Given the description of an element on the screen output the (x, y) to click on. 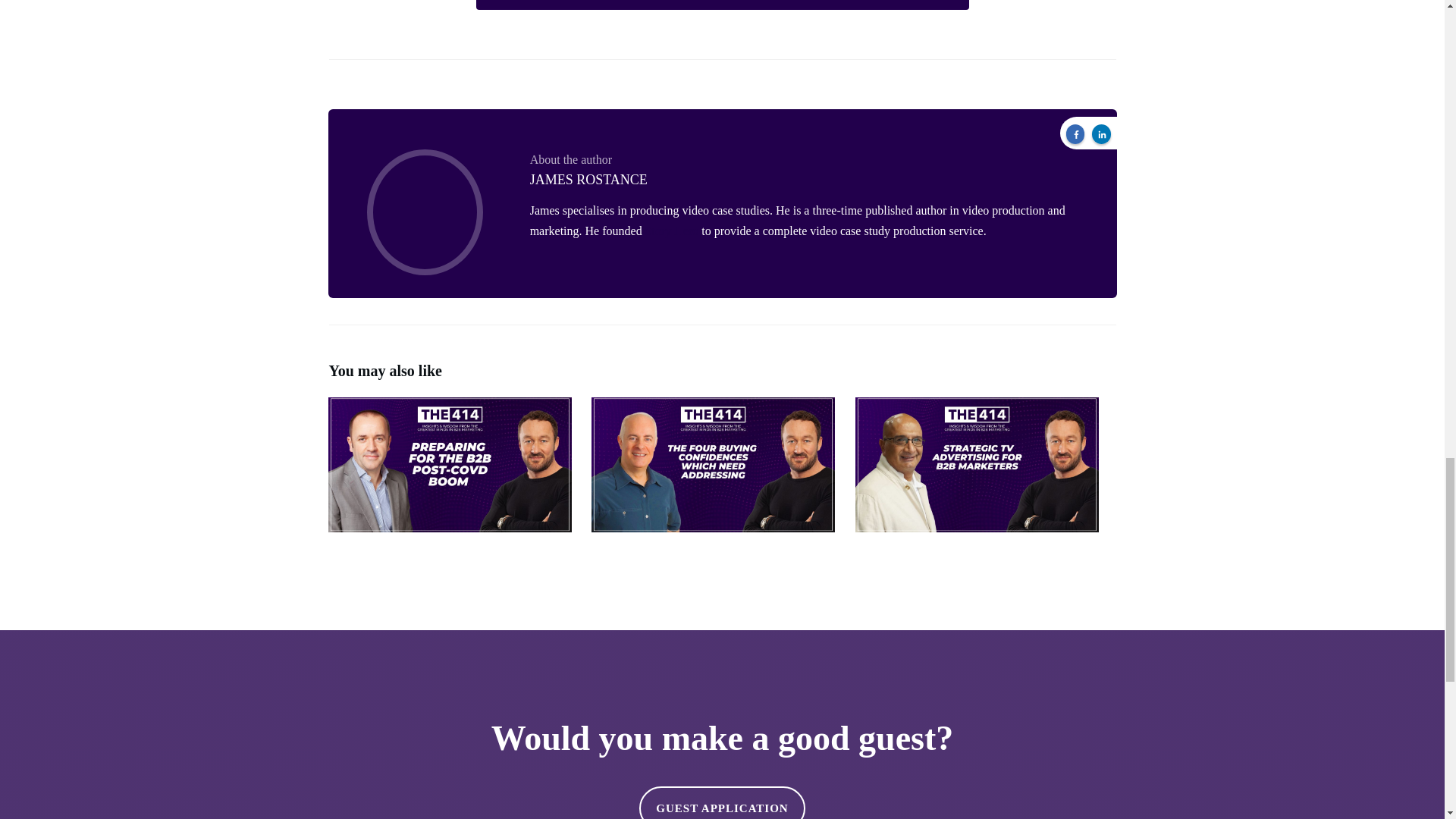
Preparing For The B2B Post-Covid Boom (457, 475)
Story Hero (671, 230)
Strategic TV Advertising For B2B Marketers (986, 475)
The Buying Four Confidences Which Need Addressing (721, 475)
GUEST APPLICATION (722, 802)
